Given the description of an element on the screen output the (x, y) to click on. 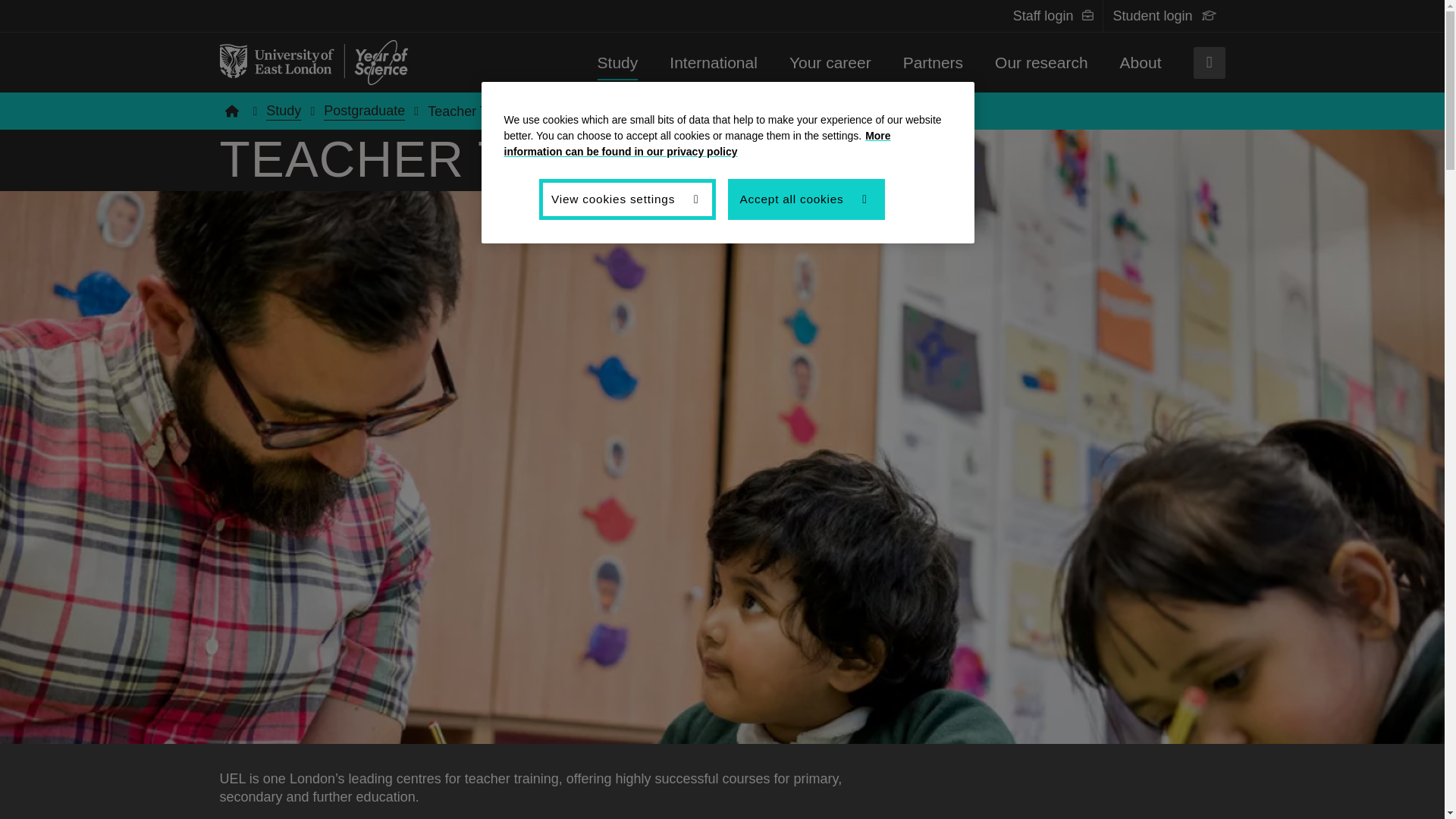
Student login (1152, 15)
University of East London (313, 62)
Staff login (1043, 15)
Study (617, 62)
International (713, 62)
